Given the description of an element on the screen output the (x, y) to click on. 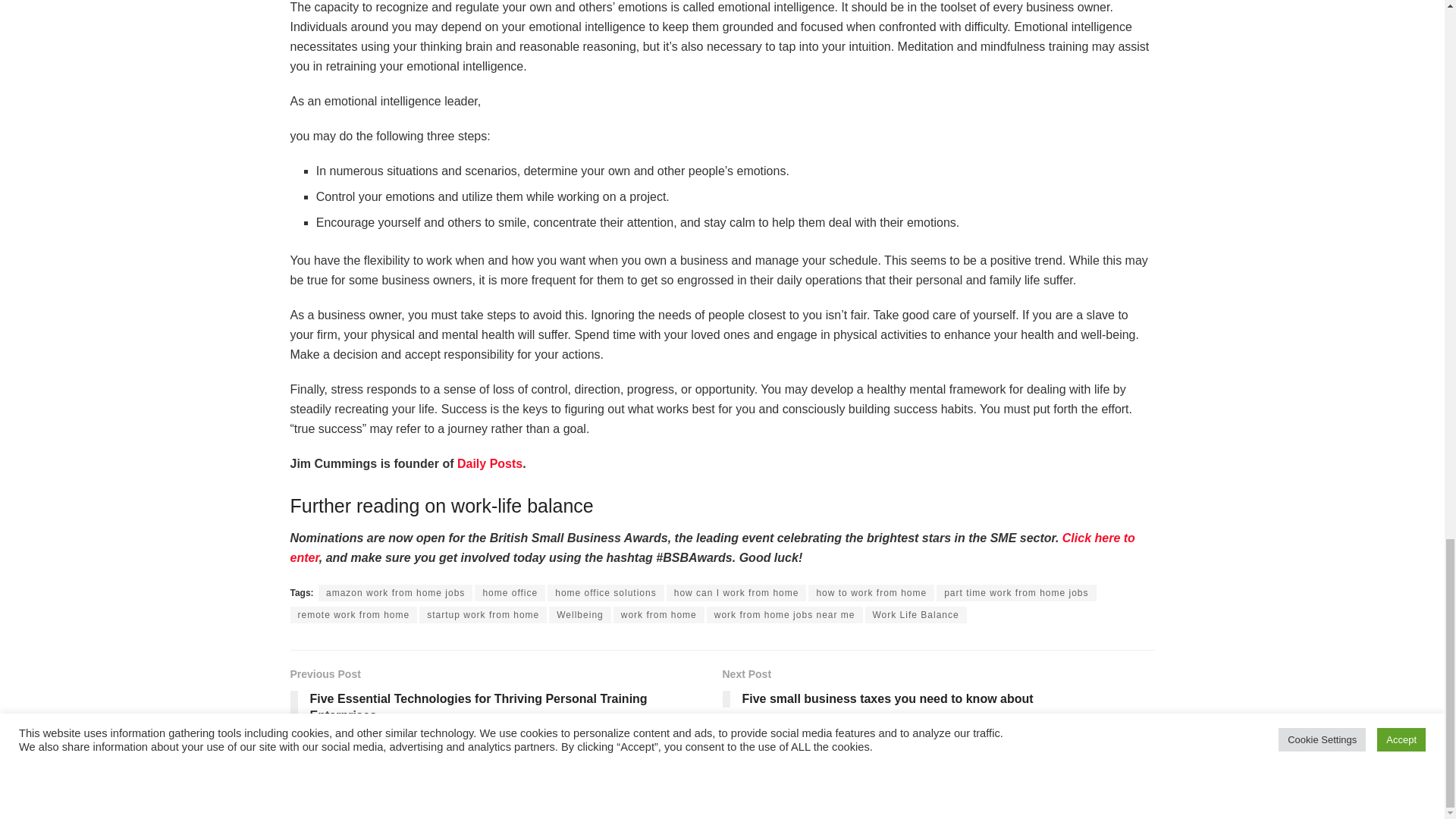
Click here to enter (711, 547)
Daily Posts (489, 463)
